Given the description of an element on the screen output the (x, y) to click on. 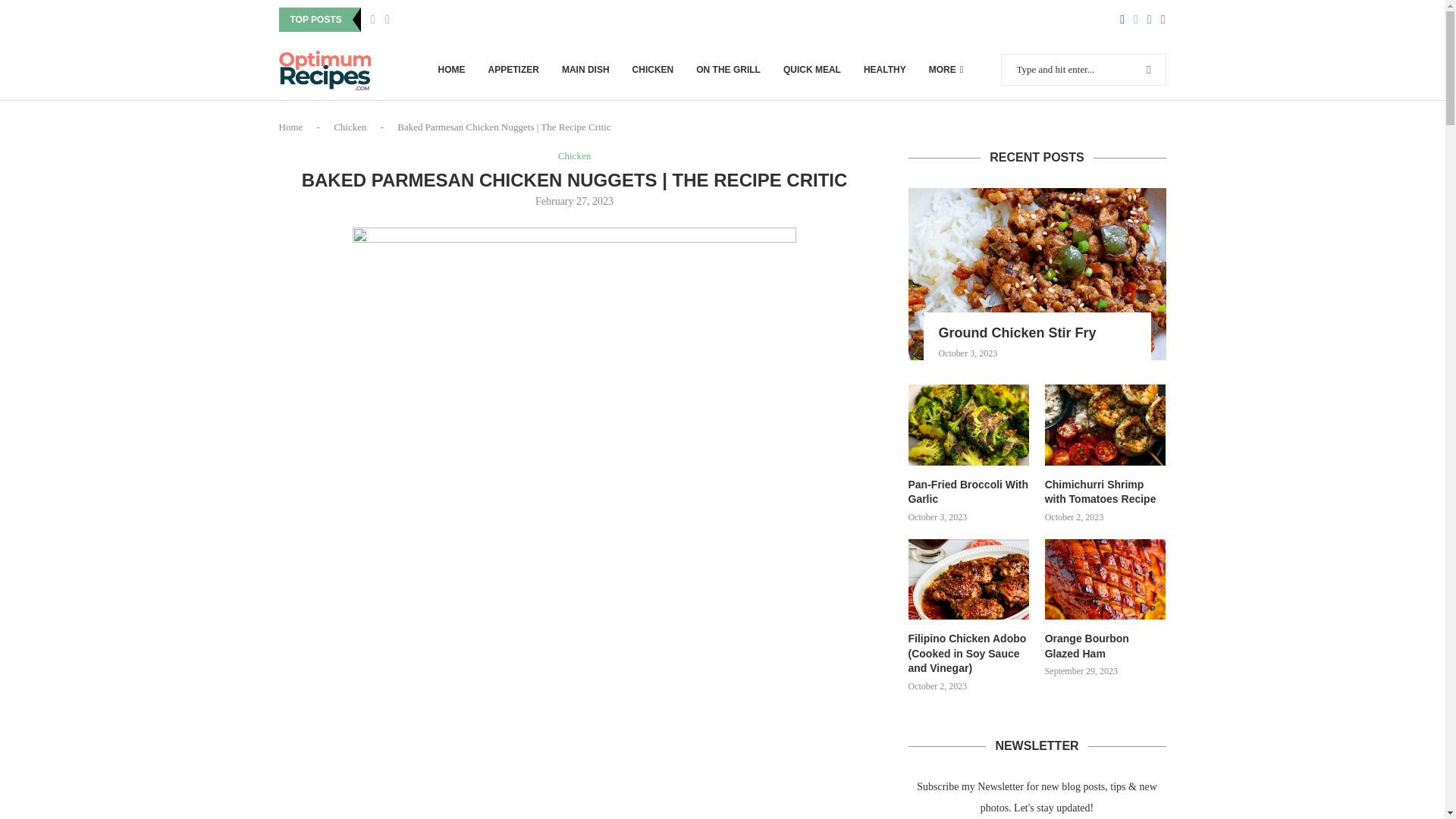
APPETIZER (512, 69)
MAIN DISH (586, 69)
CHICKEN (652, 69)
Search (1117, 6)
ON THE GRILL (727, 69)
